Given the description of an element on the screen output the (x, y) to click on. 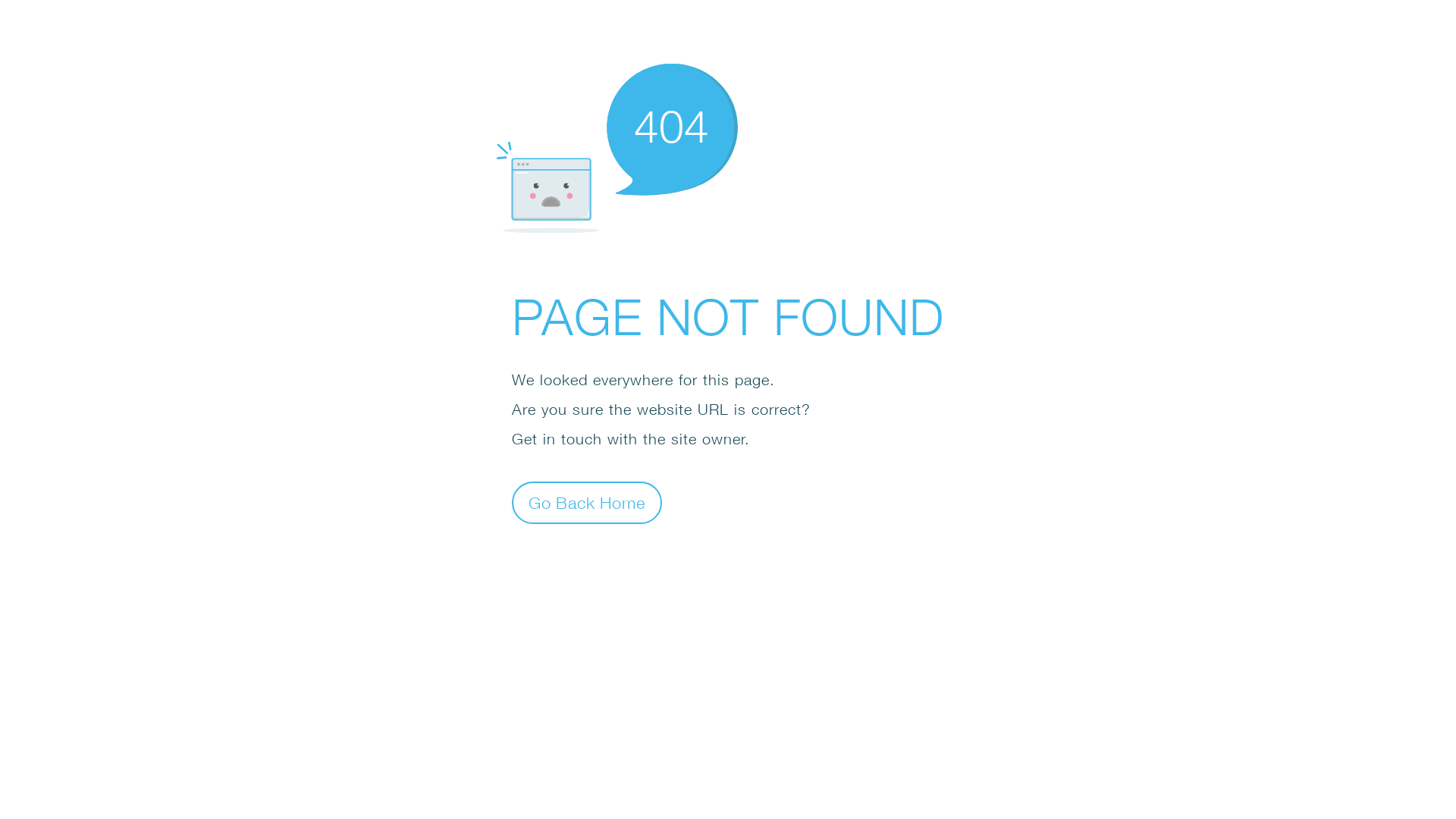
Go Back Home Element type: text (586, 502)
